Given the description of an element on the screen output the (x, y) to click on. 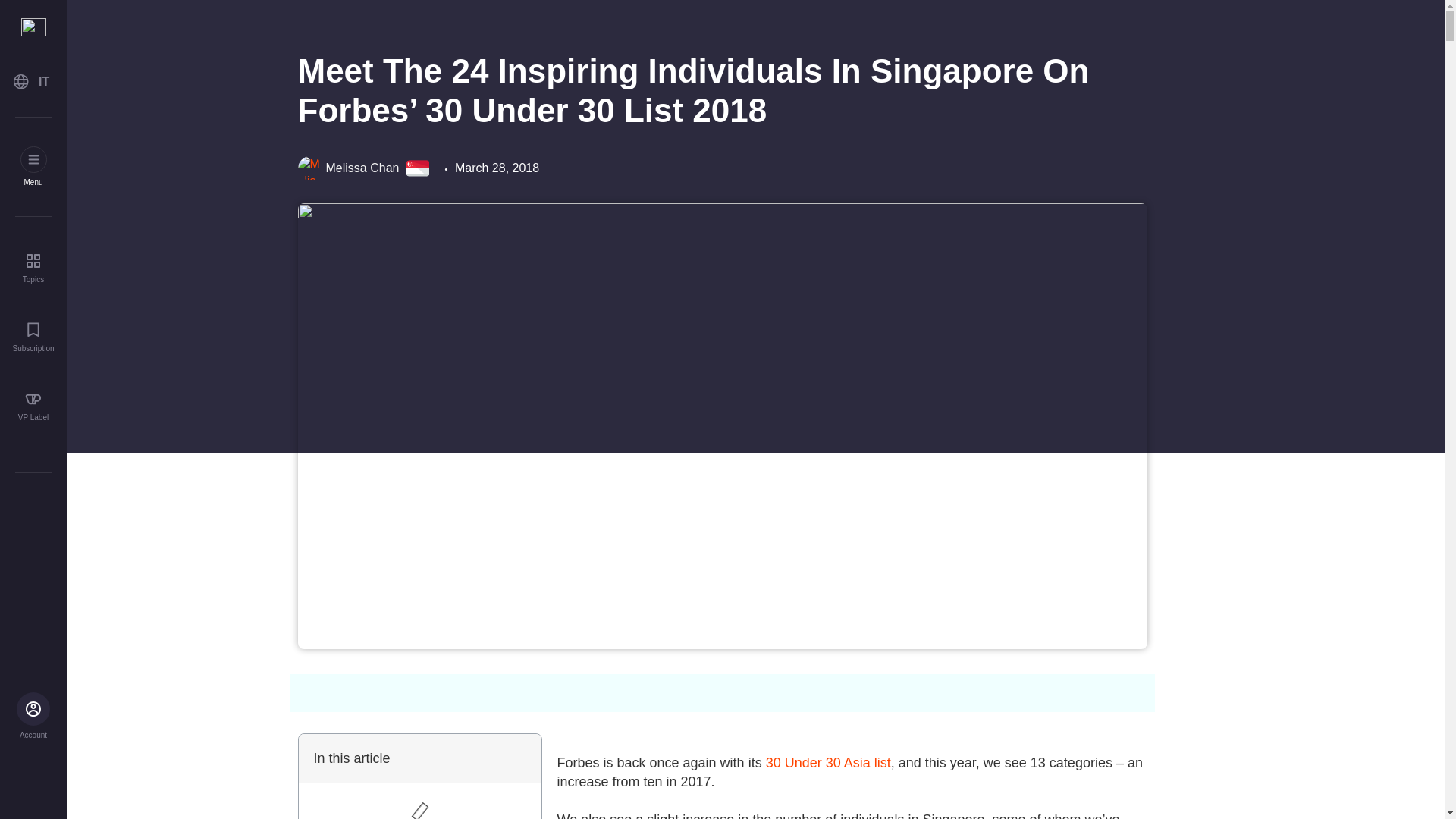
IT (33, 81)
Menu (33, 166)
VP Label (33, 405)
Melissa Chan (347, 168)
Topics (33, 267)
Subscription (33, 336)
30 Under 30 Asia list (828, 762)
